Given the description of an element on the screen output the (x, y) to click on. 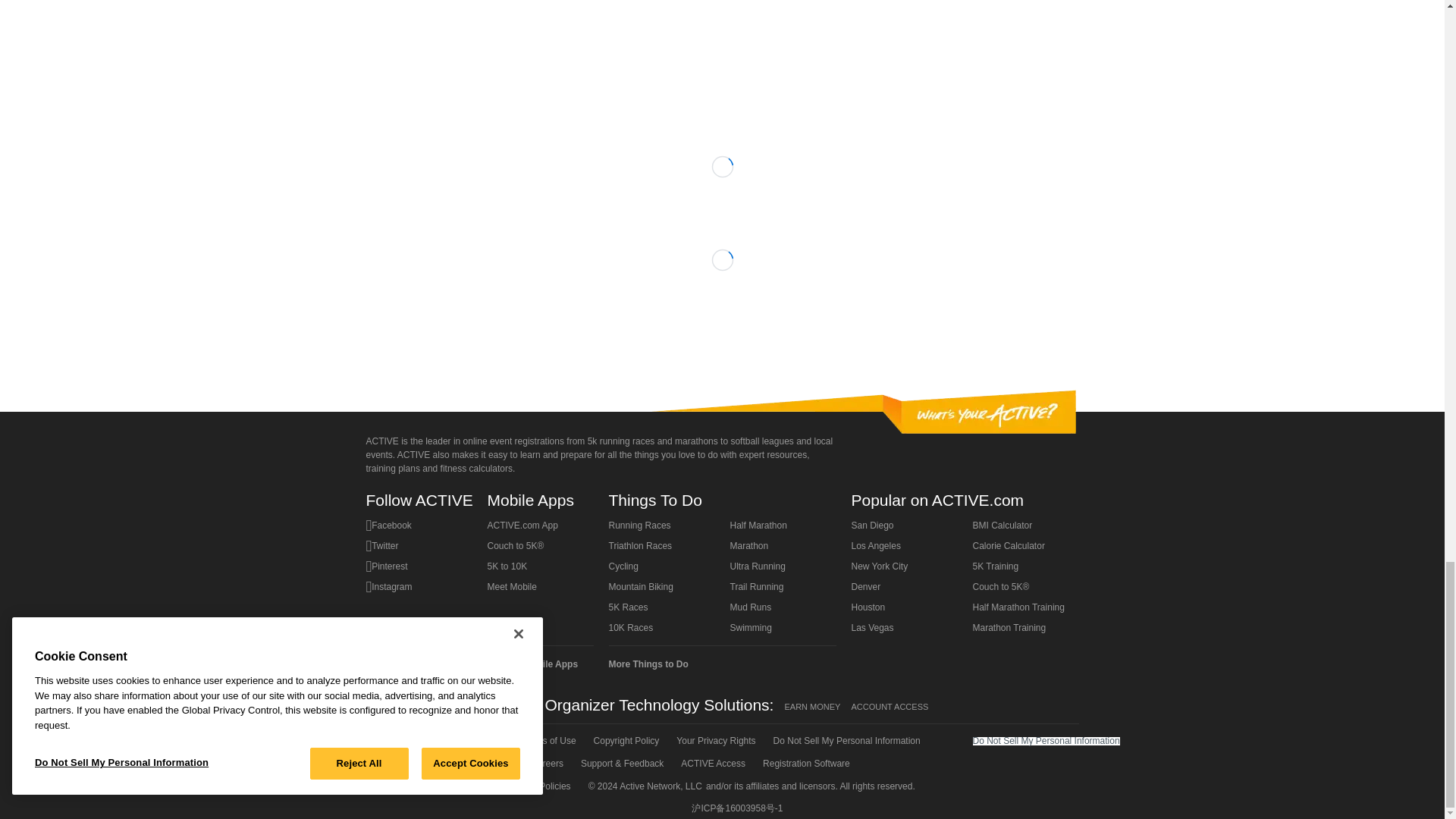
3rd party ad content (722, 332)
Terms of Use (547, 740)
Privacy Settings (479, 763)
Cookie Policy (401, 763)
3rd party ad content (721, 45)
Do Not Sell My Personal Information (845, 740)
Careers at Active (545, 763)
Copyright Policy (624, 740)
Your Privacy Rights: Updated (714, 740)
